Given the description of an element on the screen output the (x, y) to click on. 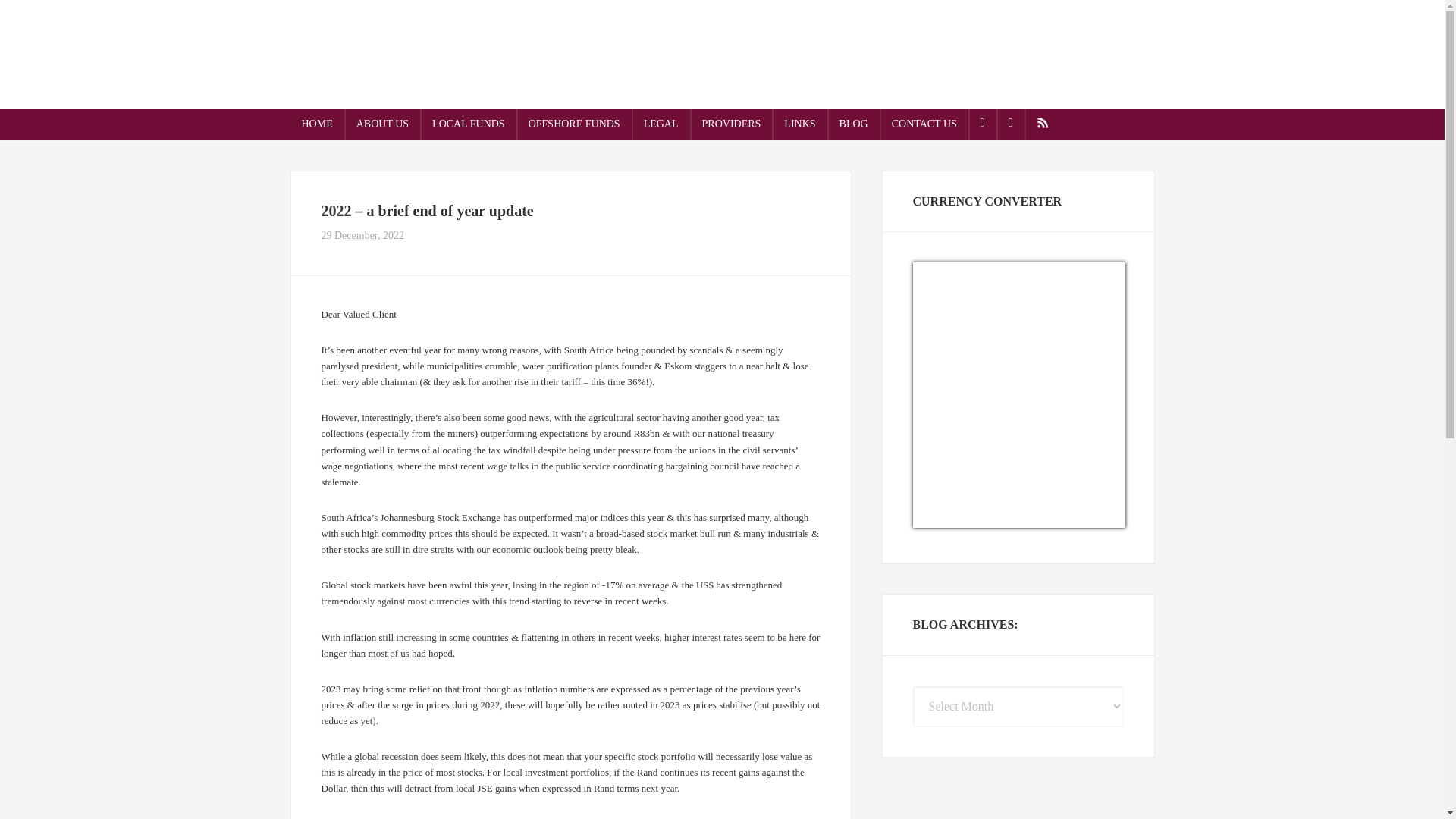
EMAIL (982, 123)
RSS (1043, 123)
ABOUT US (382, 123)
OFFSHORE FUNDS (573, 123)
PROVIDERS (731, 123)
Currency.Wiki (1082, 518)
LINKEDIN (1011, 123)
LOCAL FUNDS (468, 123)
LEGAL (660, 123)
CONTACT US (924, 123)
BLOG (853, 123)
Offshore Investing (721, 52)
LINKS (800, 123)
HOME (316, 123)
